Given the description of an element on the screen output the (x, y) to click on. 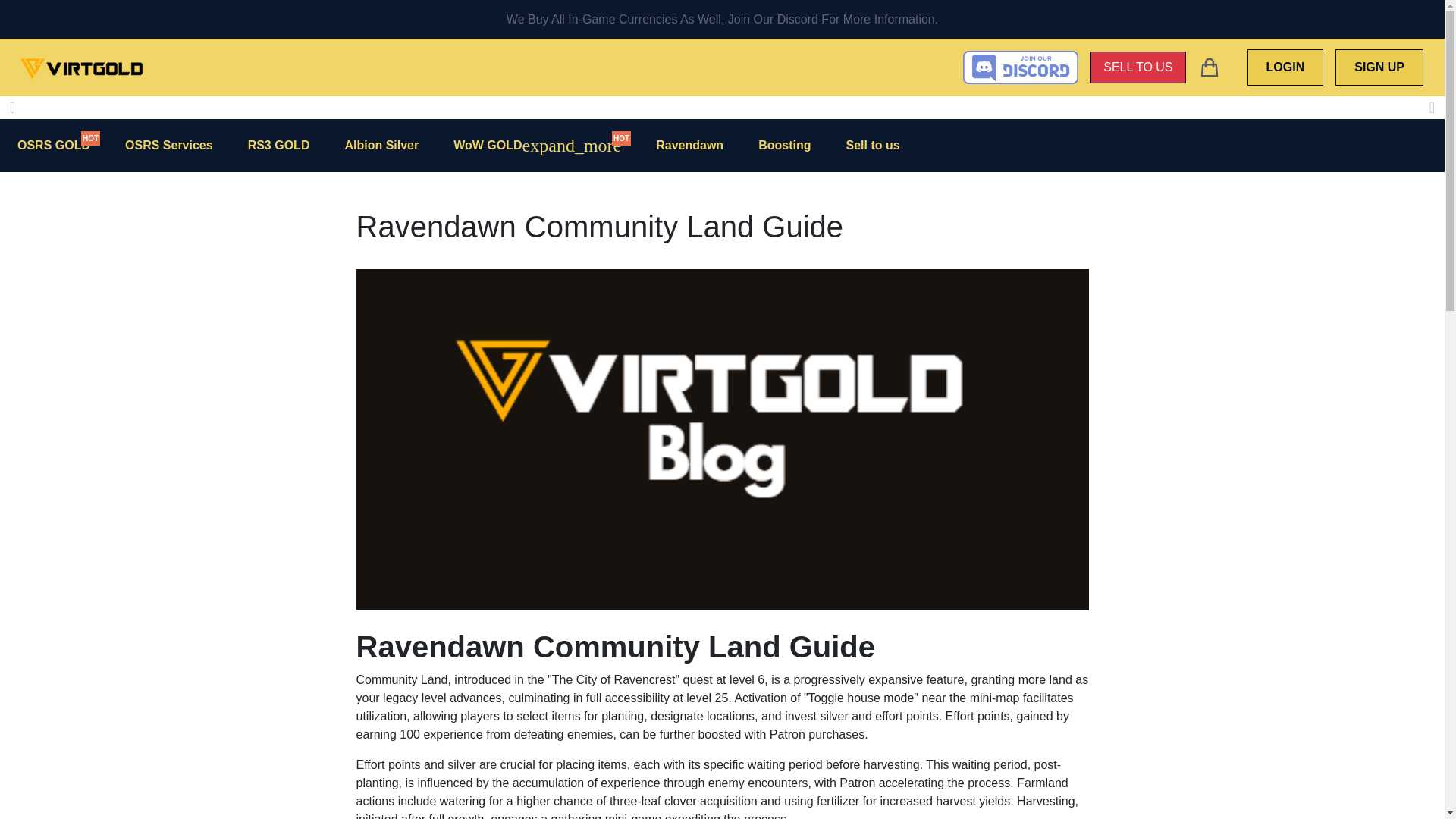
Sell to us (872, 145)
SELL TO US (1137, 67)
Albion Silver (381, 145)
LOGIN (1285, 67)
Customer reviews powered by Trustpilot (836, 67)
RS3 GOLD (278, 145)
OSRS GOLD (53, 145)
Boosting (784, 145)
SIGN UP (1379, 67)
Ravendawn (690, 145)
